Given the description of an element on the screen output the (x, y) to click on. 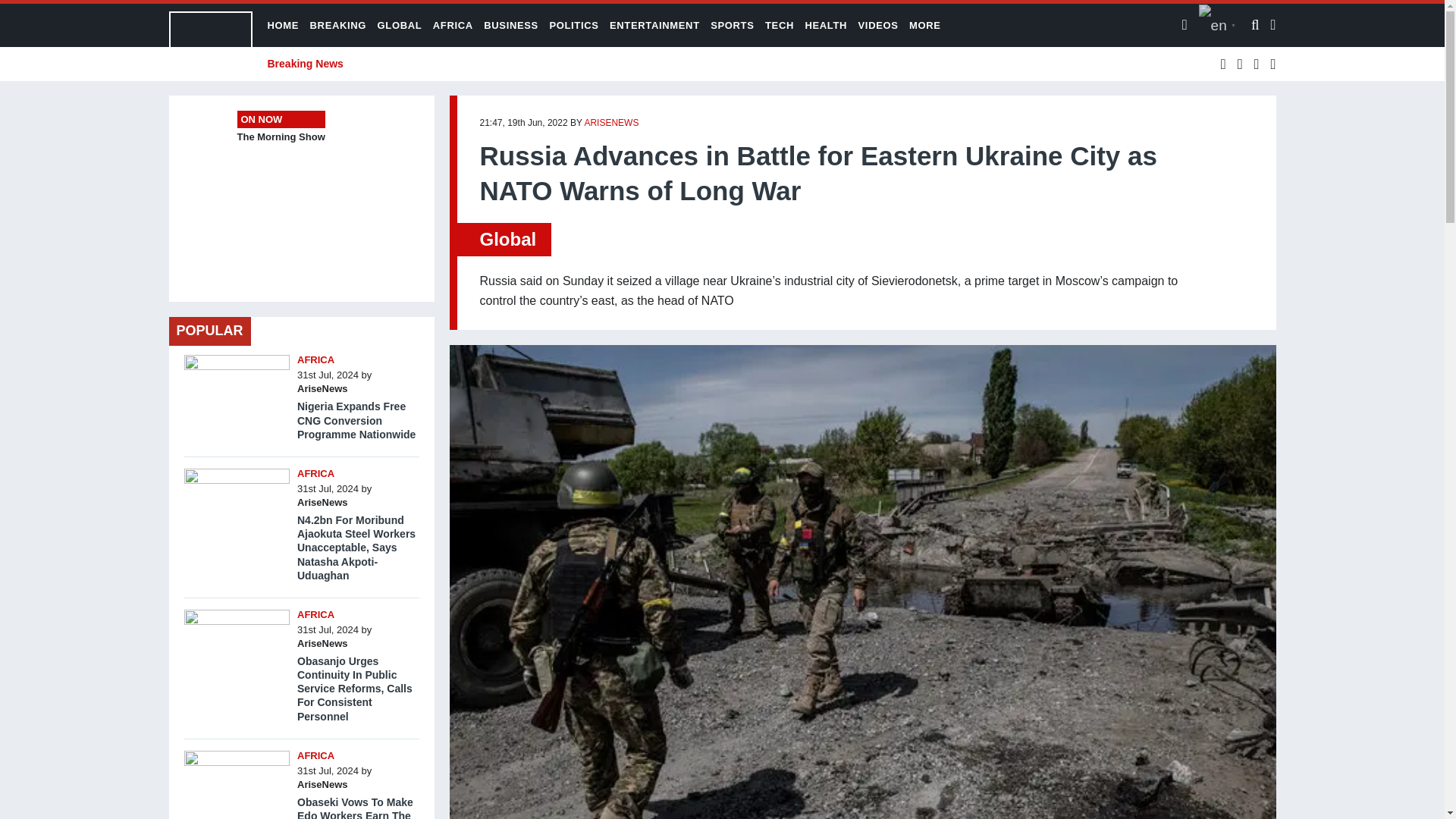
ENTERTAINMENT (655, 25)
ARISENEWS (611, 122)
HEALTH (826, 25)
BUSINESS (510, 25)
Arise News (209, 44)
Global (507, 239)
VIDEOS (878, 25)
TECH (779, 25)
AFRICA (452, 25)
MORE (924, 25)
HOME (282, 25)
POLITICS (573, 25)
SPORTS (732, 25)
Posts by AriseNews (611, 122)
BREAKING (338, 25)
